Given the description of an element on the screen output the (x, y) to click on. 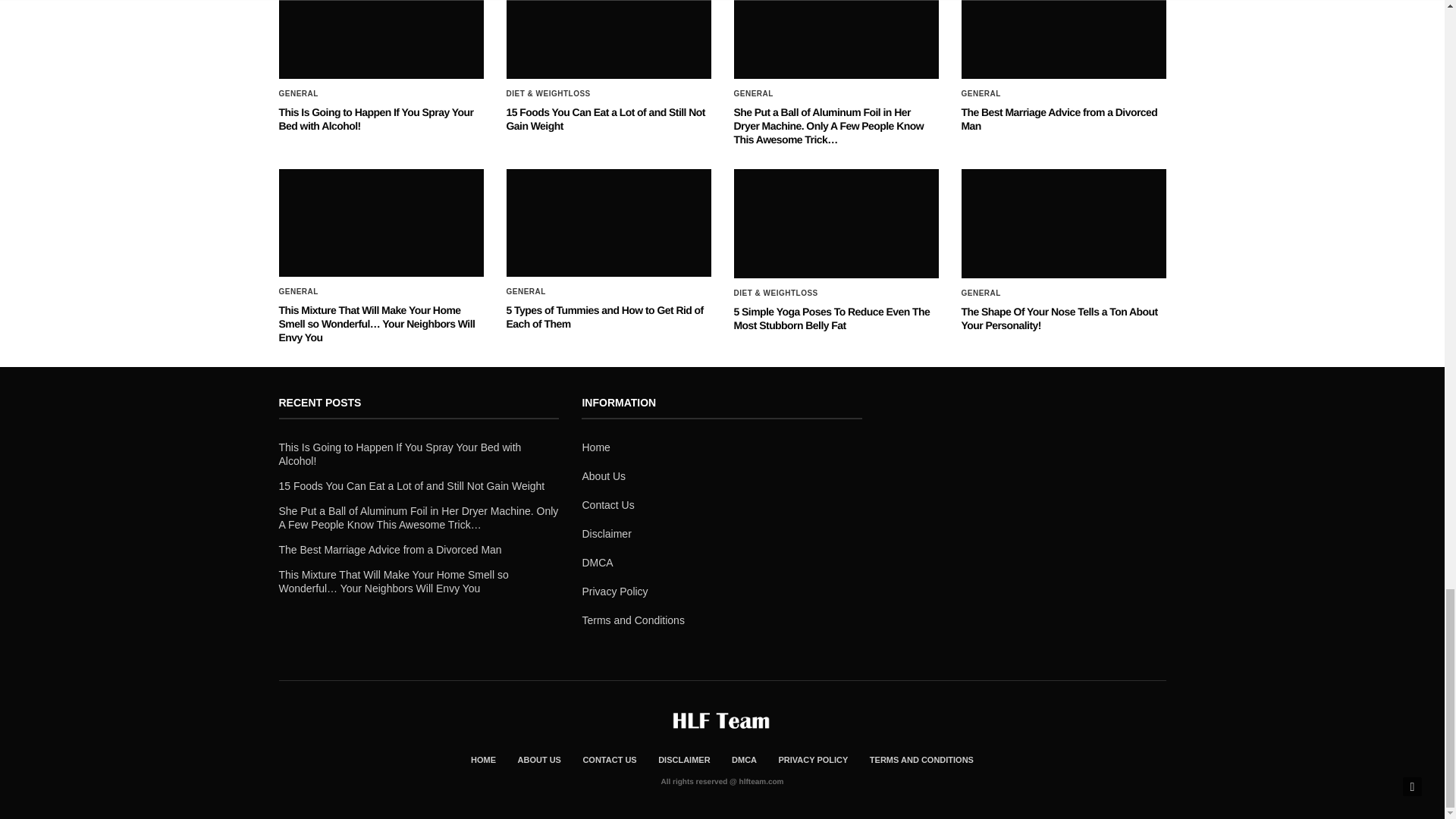
15 Foods You Can Eat a Lot of and Still Not Gain Weight (608, 39)
This Is Going to Happen If You Spray Your Bed with Alcohol! (376, 118)
General (753, 93)
GENERAL (753, 93)
General (298, 93)
This Is Going to Happen If You Spray Your Bed with Alcohol! (376, 118)
This Is Going to Happen If You Spray Your Bed with Alcohol! (381, 39)
15 Foods You Can Eat a Lot of and Still Not Gain Weight (605, 118)
GENERAL (298, 93)
15 Foods You Can Eat a Lot of and Still Not Gain Weight (605, 118)
